Given the description of an element on the screen output the (x, y) to click on. 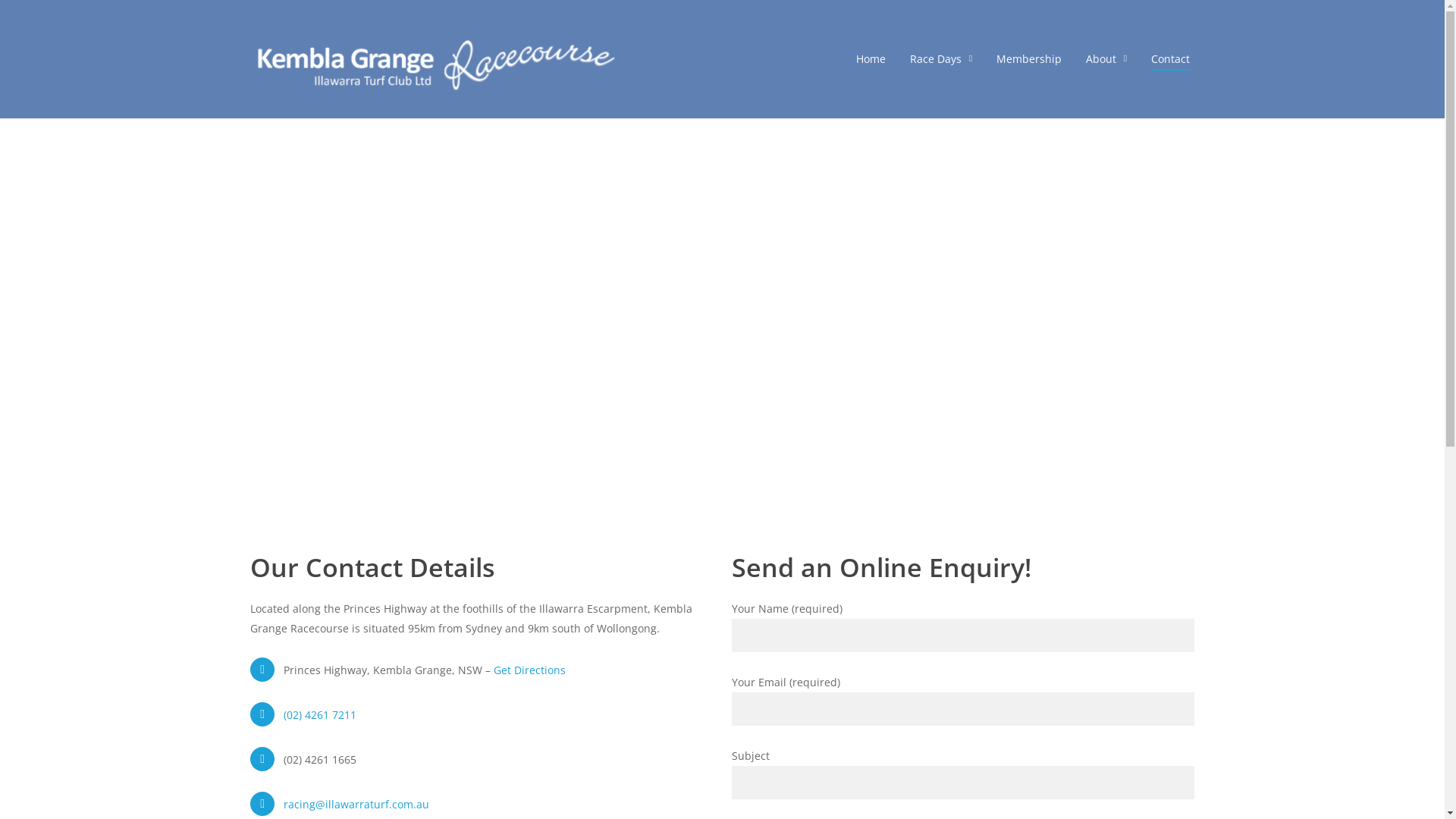
Home Element type: text (870, 58)
Race Days Element type: text (940, 58)
racing@illawarraturf.com.au Element type: text (356, 804)
(02) 4261 7211 Element type: text (319, 714)
Get Directions Element type: text (529, 669)
Membership Element type: text (1028, 58)
Contact Element type: text (1170, 58)
About Element type: text (1106, 58)
